Given the description of an element on the screen output the (x, y) to click on. 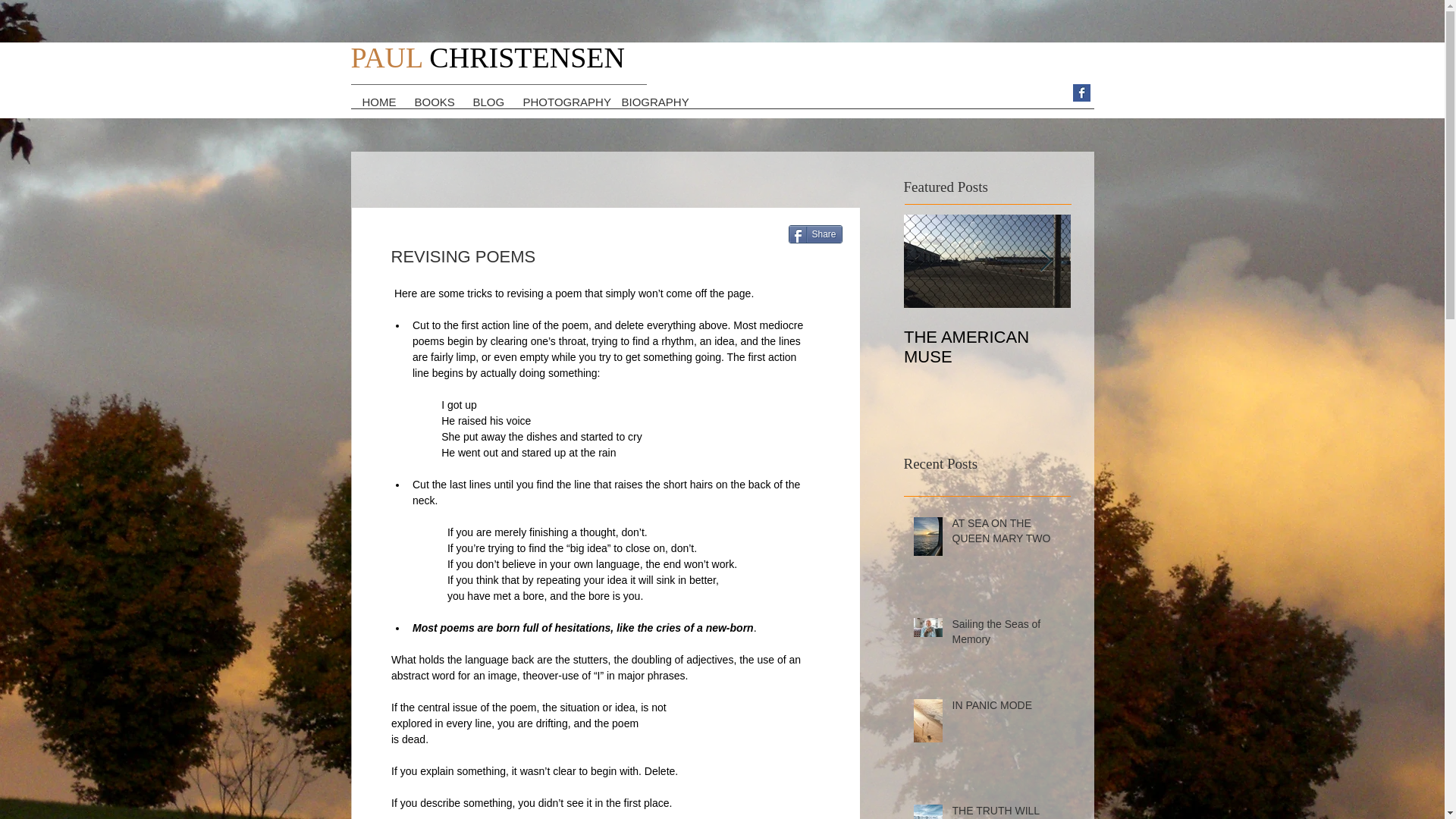
THE AMERICAN MUSE (987, 346)
BIOGRAPHY (650, 106)
AT SEA ON THE QUEEN MARY TWO (1006, 534)
Share (816, 234)
BOOKS (432, 106)
IN PANIC MODE (1006, 708)
PHOTOGRAPHY (560, 106)
HOME (376, 106)
The Past without History (1153, 346)
Sailing the Seas of Memory (1006, 634)
